Given the description of an element on the screen output the (x, y) to click on. 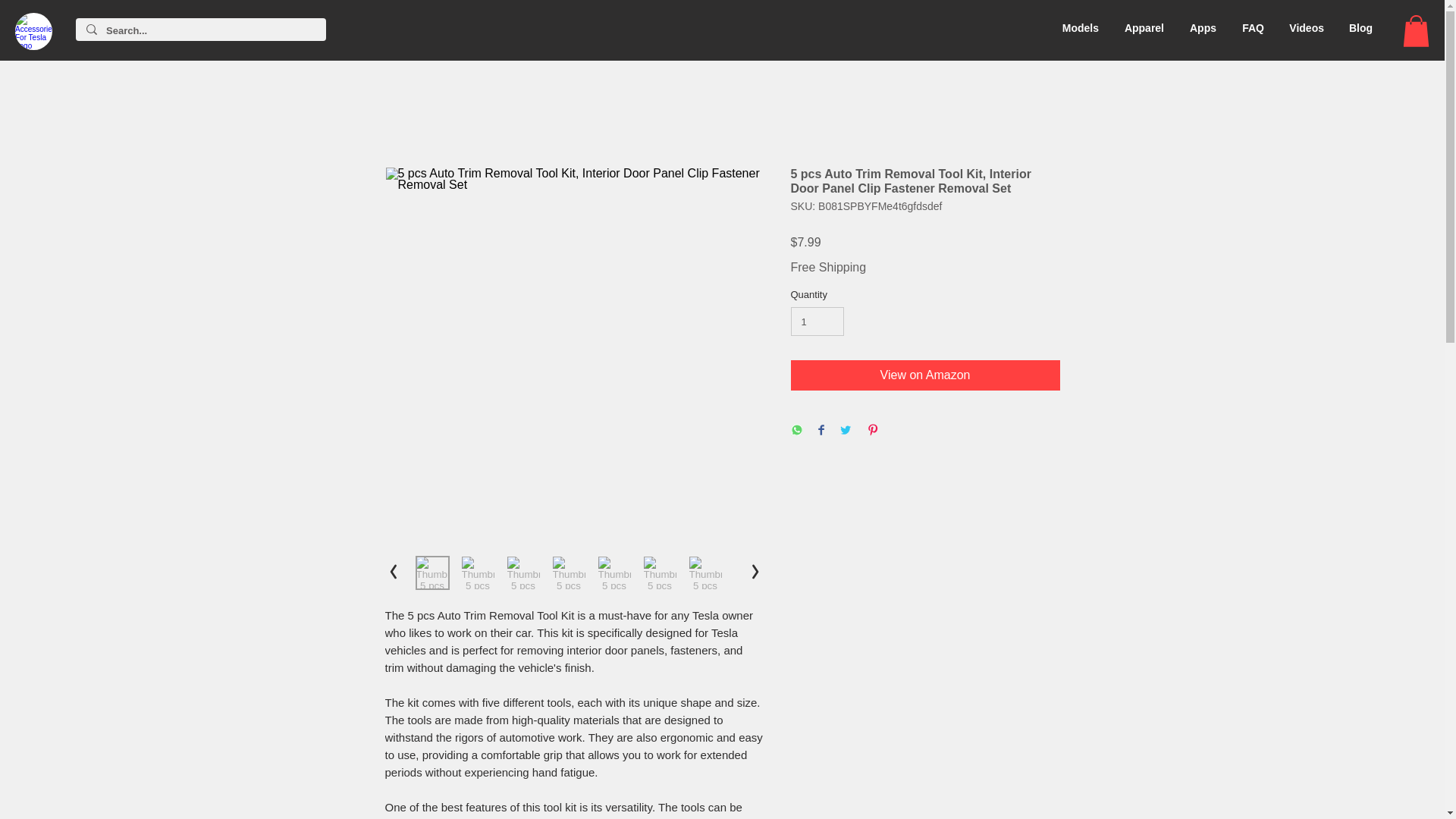
FAQ (1251, 27)
View on Amazon (924, 375)
Blog (1359, 27)
1 (817, 321)
Videos (1305, 27)
Apparel (1141, 27)
Free Shipping (828, 267)
Models (1078, 27)
Apps (1200, 27)
